Given the description of an element on the screen output the (x, y) to click on. 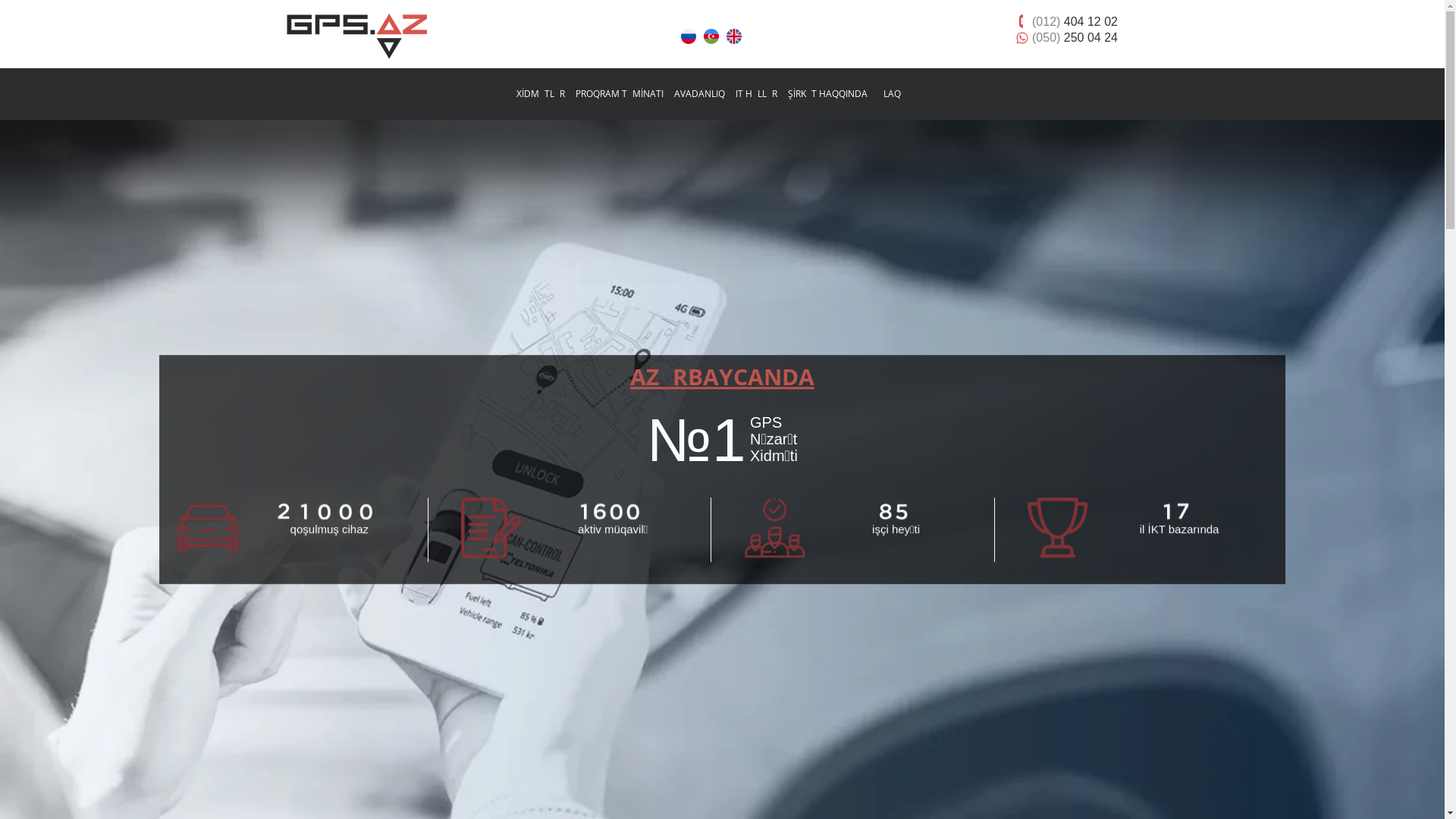
(050) 250 04 24 Element type: text (1074, 37)
AVADANLIQ Element type: text (698, 93)
(012) 404 12 02 Element type: text (1074, 21)
